Given the description of an element on the screen output the (x, y) to click on. 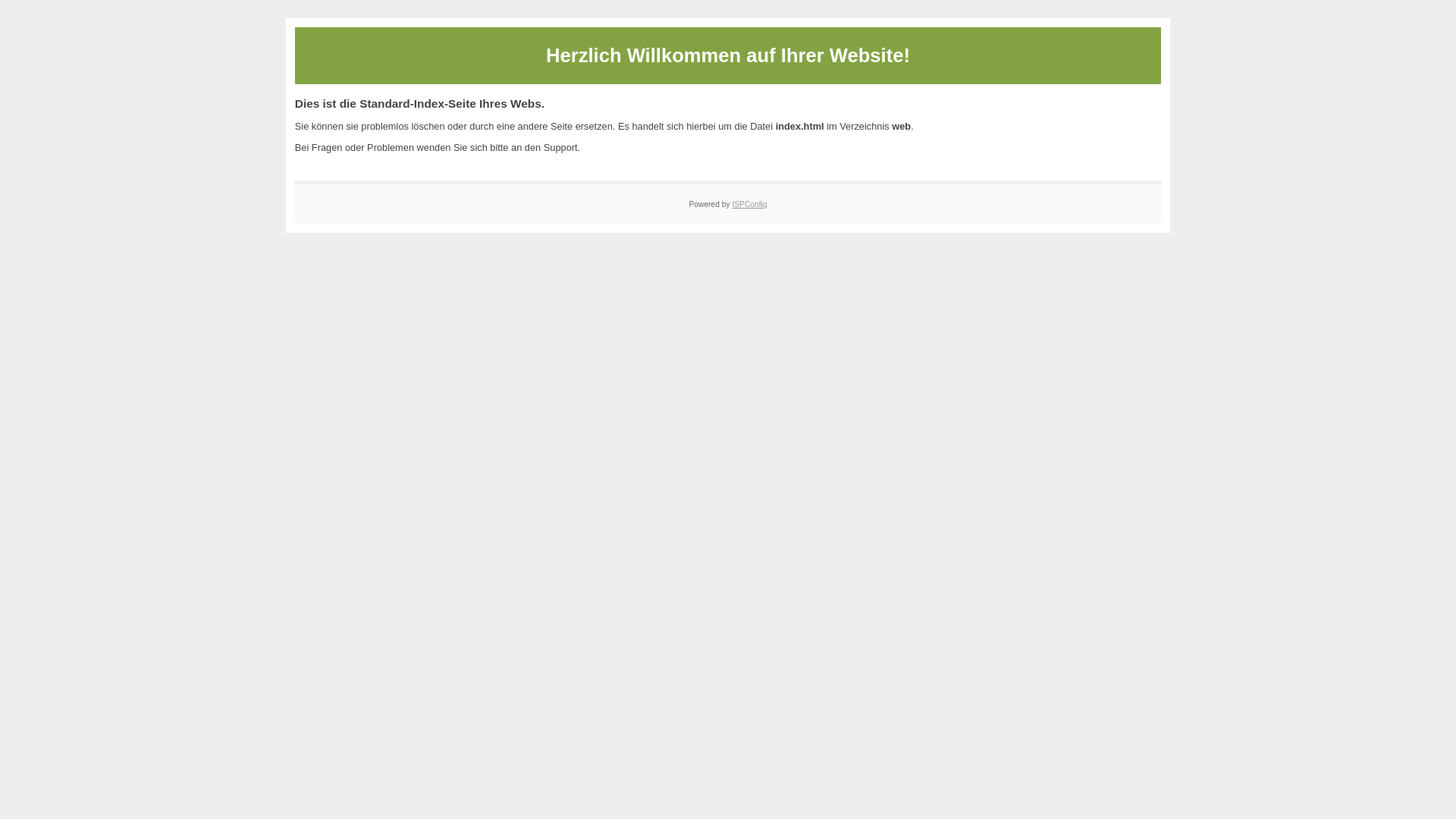
ISPConfig Element type: text (748, 204)
